Given the description of an element on the screen output the (x, y) to click on. 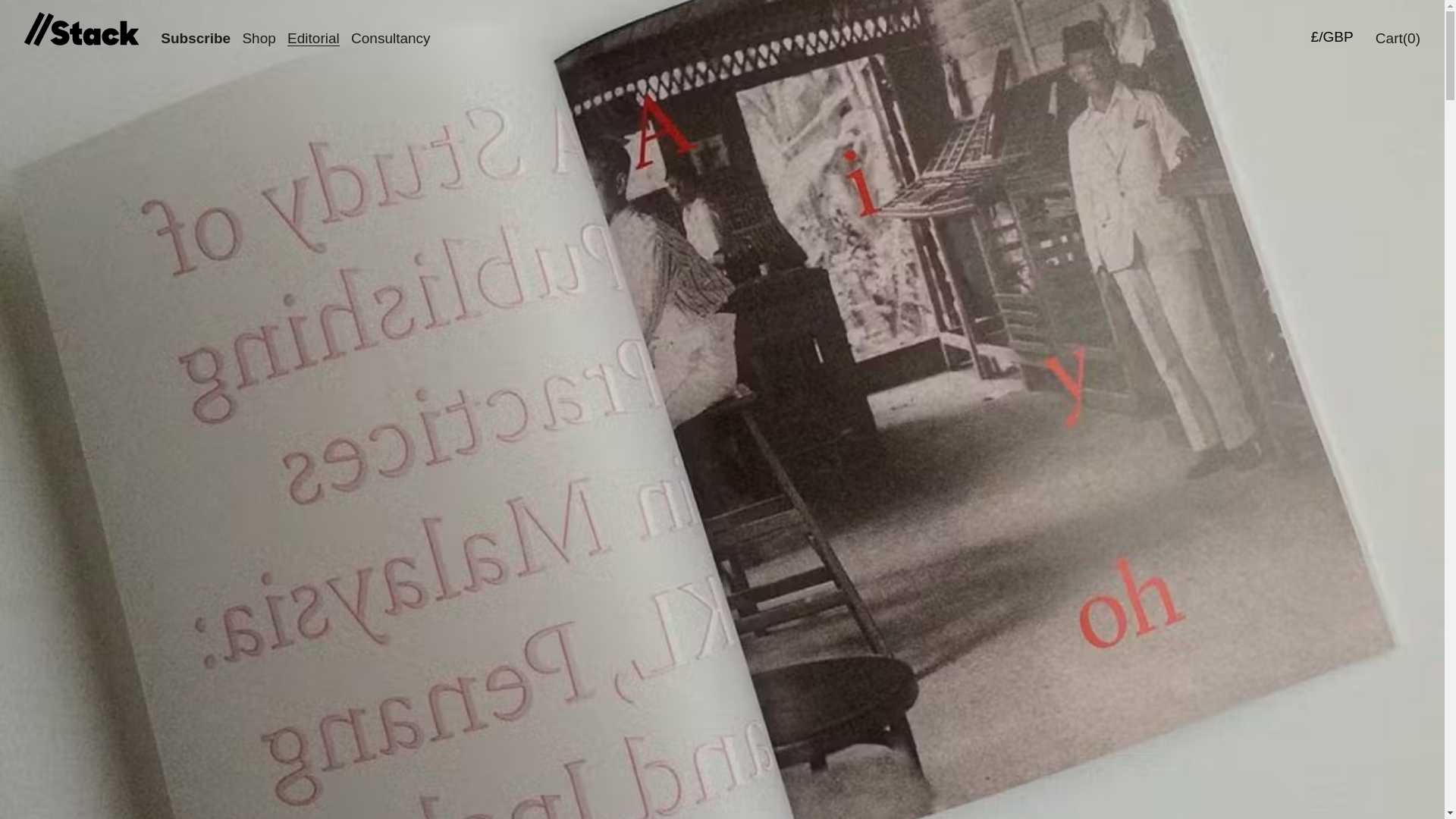
logo (81, 28)
logo (78, 30)
change currency (1333, 34)
show cart (1398, 36)
Editorial (312, 36)
Stack Consultancy (390, 36)
Subscribe (195, 36)
Editorial (312, 36)
Consultancy (390, 36)
